Given the description of an element on the screen output the (x, y) to click on. 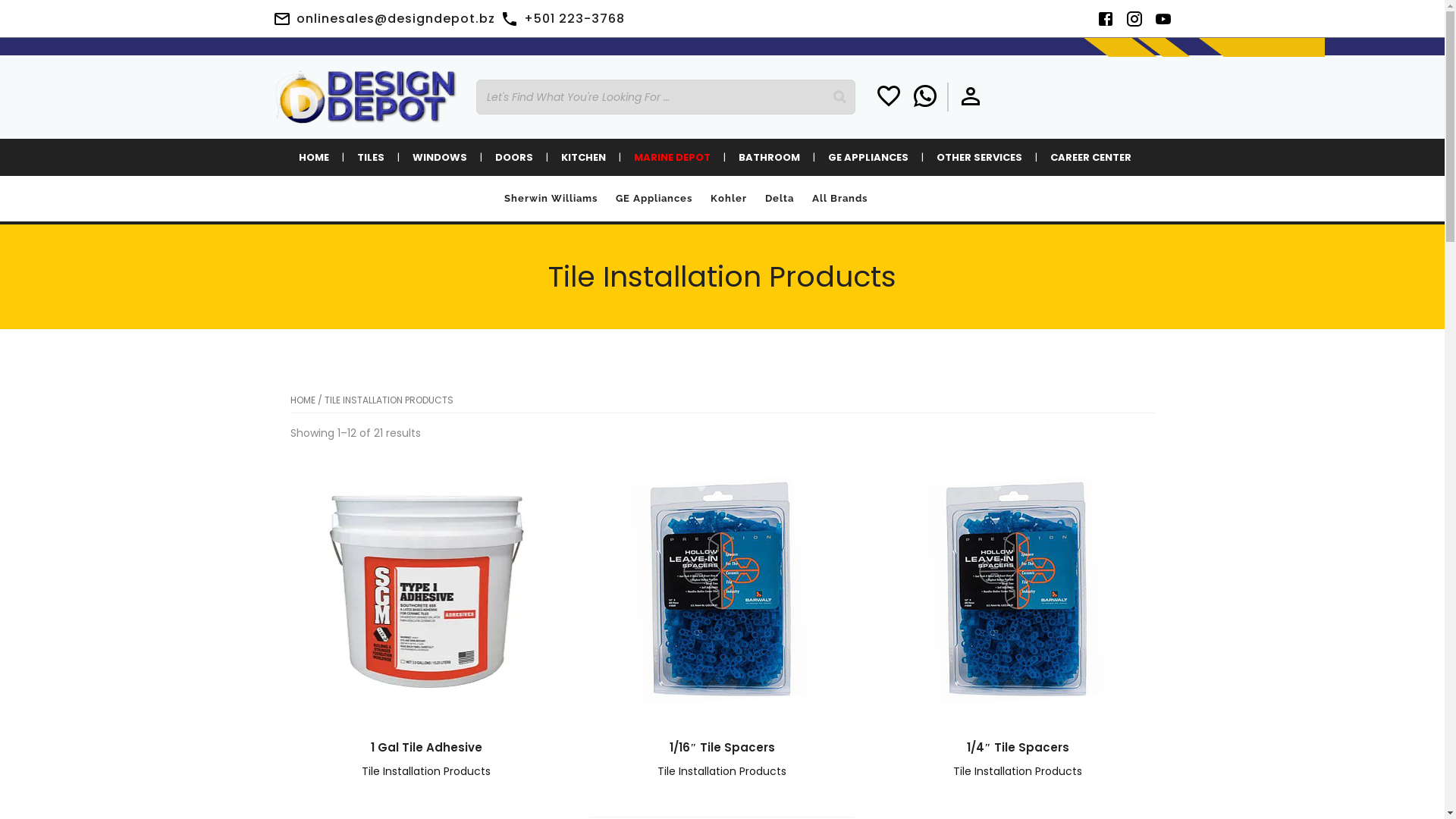
TILES Element type: text (370, 157)
Tile Installation Products Element type: text (425, 770)
WINDOWS Element type: text (438, 157)
MARINE DEPOT Element type: text (671, 157)
BATHROOM Element type: text (768, 157)
HOME Element type: text (301, 399)
Tile Installation Products Element type: text (721, 770)
KITCHEN Element type: text (582, 157)
CAREER CENTER Element type: text (1090, 157)
Delta Element type: text (778, 198)
GE Appliances Element type: text (653, 198)
GE APPLIANCES Element type: text (867, 157)
DOORS Element type: text (513, 157)
Sherwin Williams Element type: text (549, 198)
HOME Element type: text (313, 157)
All Brands Element type: text (838, 198)
Kohler Element type: text (727, 198)
Tile Installation Products Element type: text (1017, 770)
OTHER SERVICES Element type: text (979, 157)
